Given the description of an element on the screen output the (x, y) to click on. 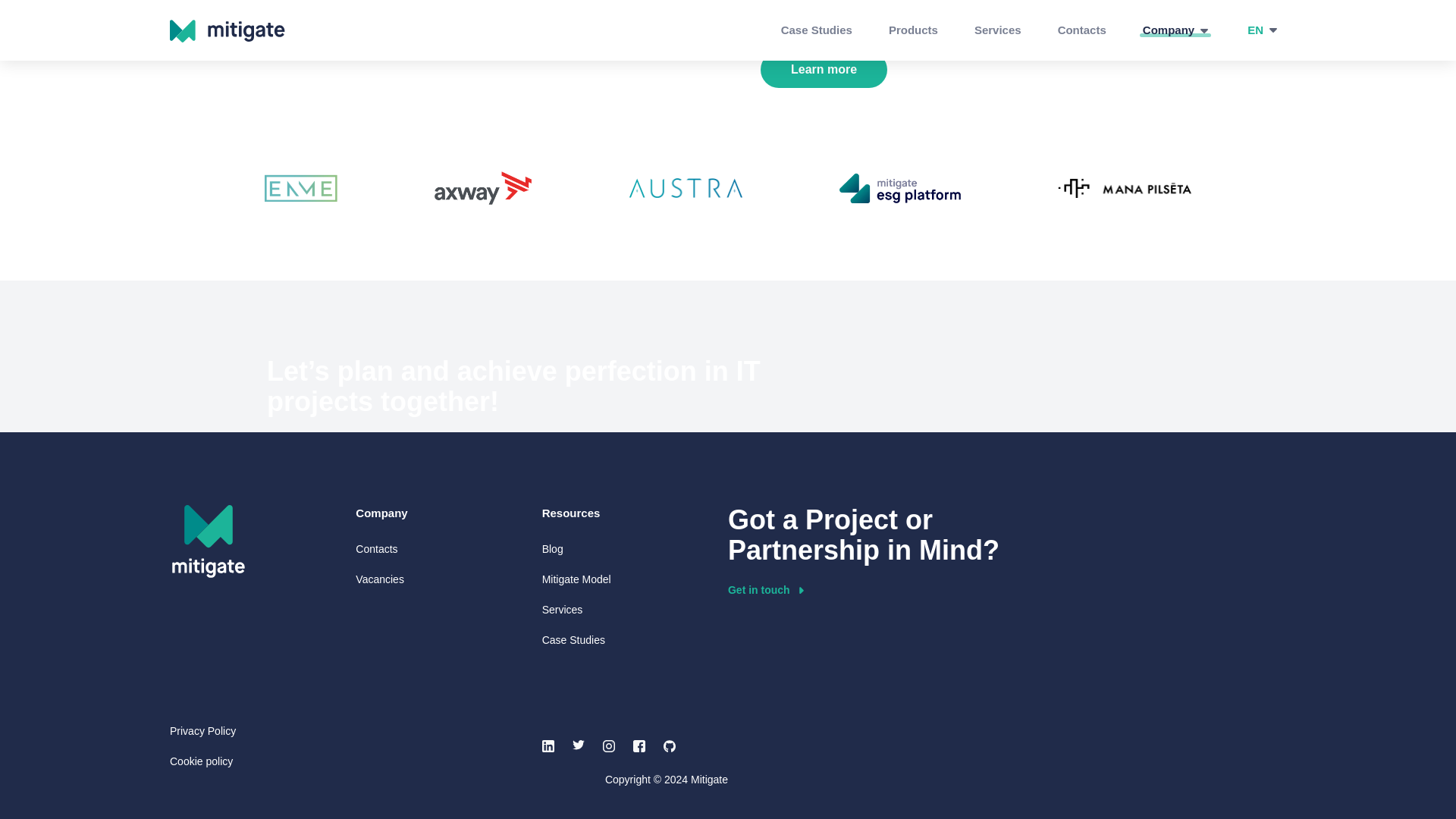
Mitigate Model (576, 579)
Services (562, 609)
Blog (552, 548)
Vacancies (379, 579)
Contacts (376, 548)
Learn more (823, 69)
